Given the description of an element on the screen output the (x, y) to click on. 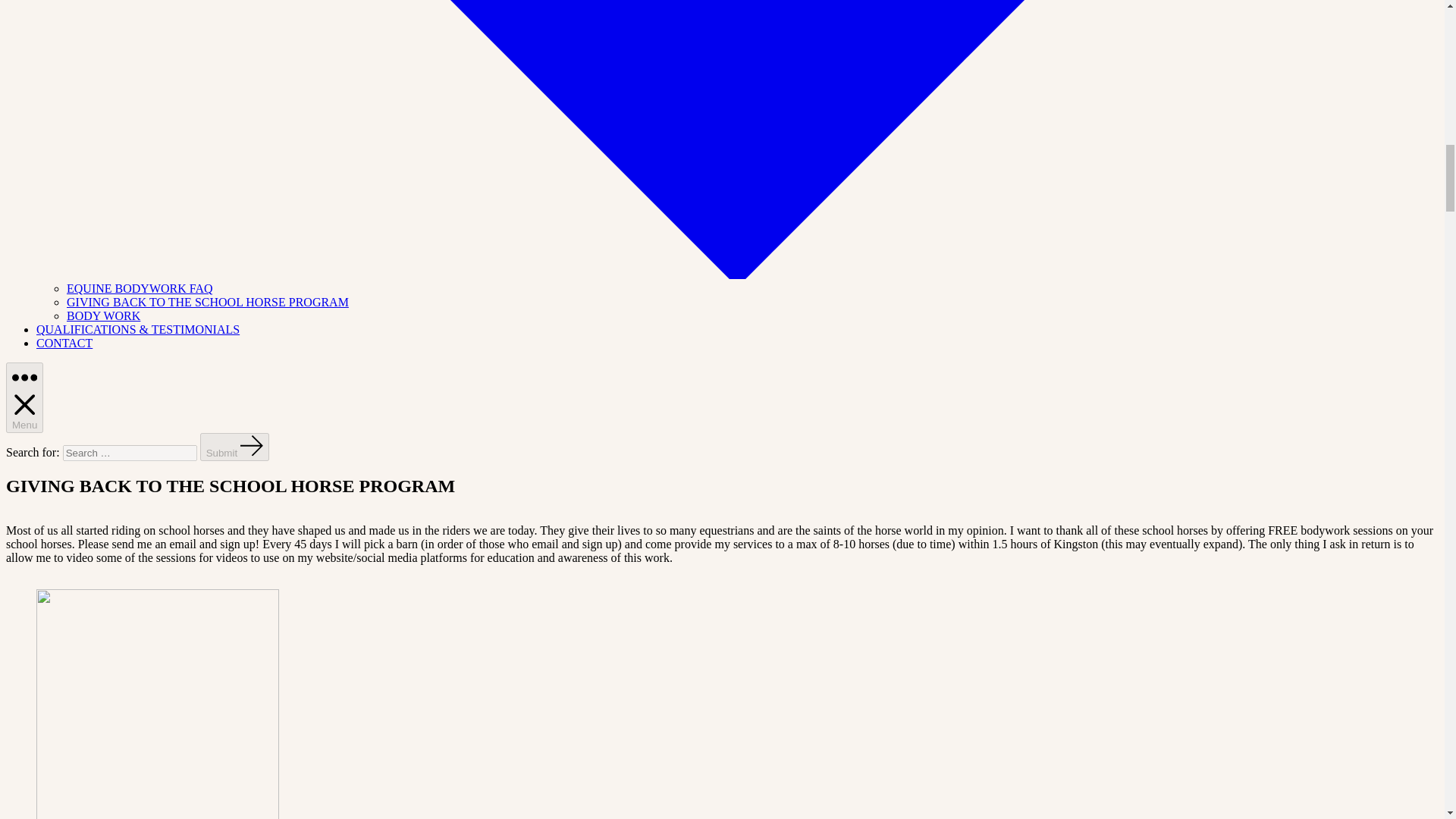
Submit (234, 447)
CONTACT (64, 342)
EQUINE BODYWORK FAQ (139, 287)
BODY WORK (102, 315)
GIVING BACK TO THE SCHOOL HORSE PROGRAM (207, 301)
Menu (24, 398)
